Given the description of an element on the screen output the (x, y) to click on. 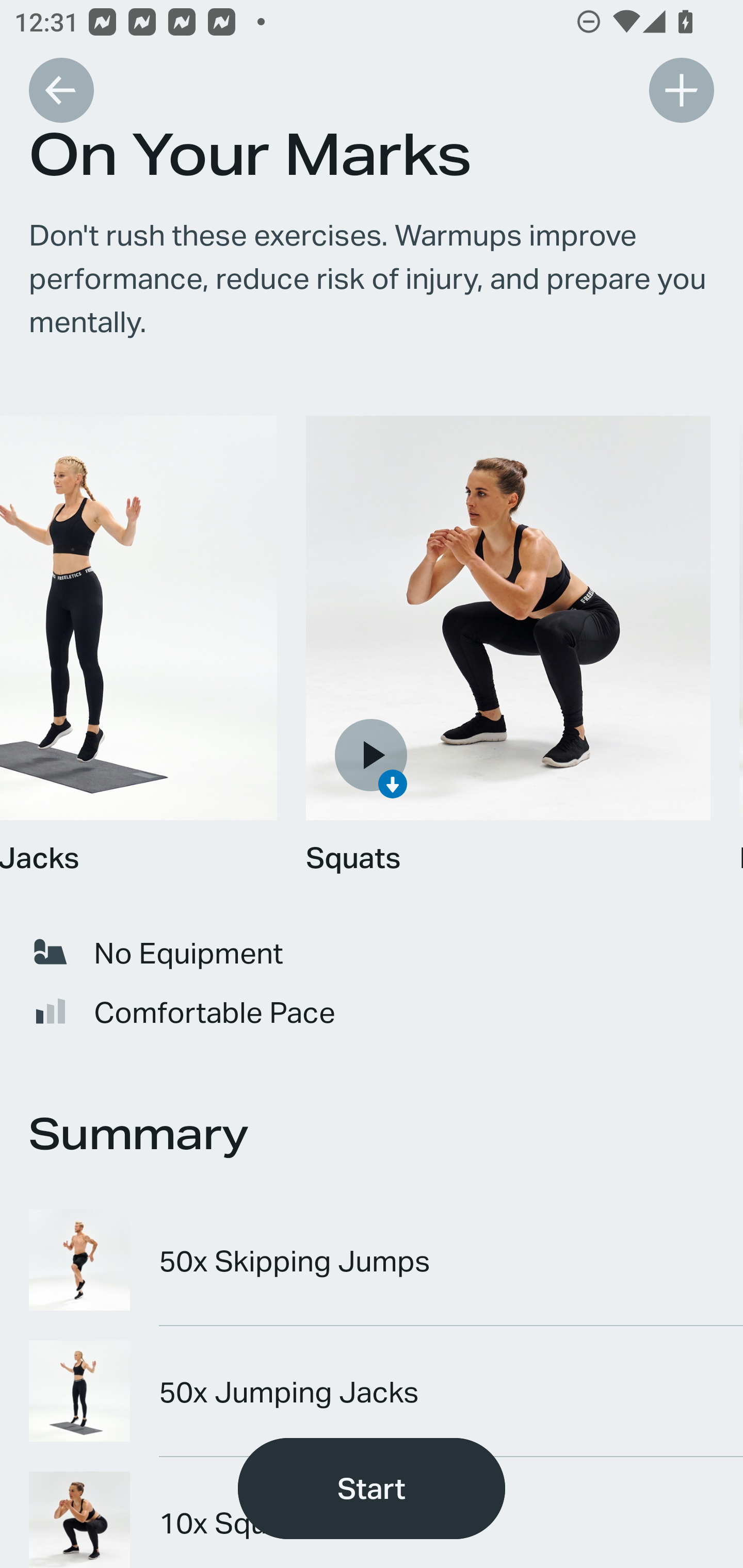
Go back (60, 90)
Log (681, 90)
Start (371, 1488)
